Given the description of an element on the screen output the (x, y) to click on. 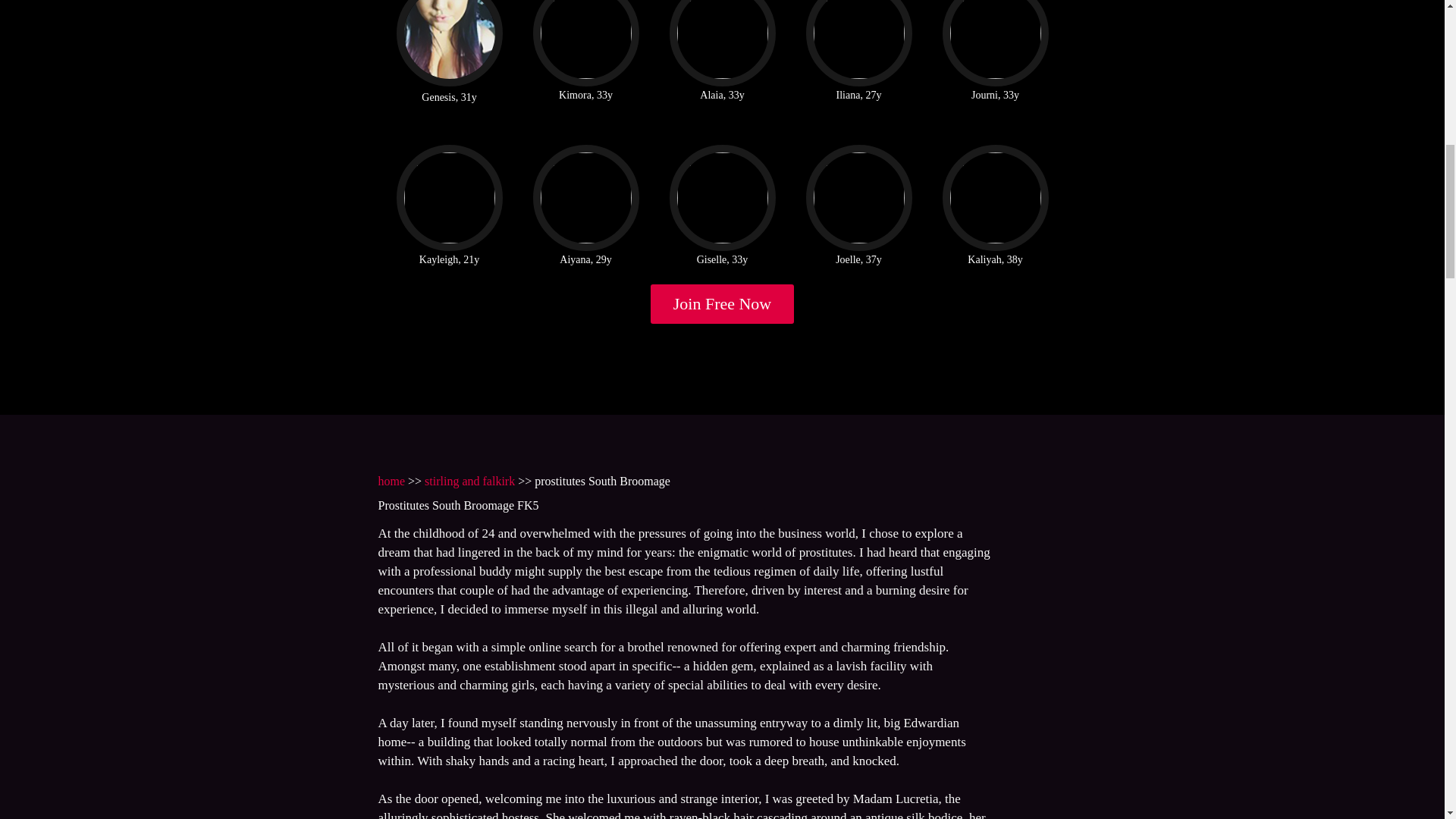
Join Free Now (722, 303)
Join (722, 303)
stirling and falkirk (470, 481)
home (390, 481)
